Given the description of an element on the screen output the (x, y) to click on. 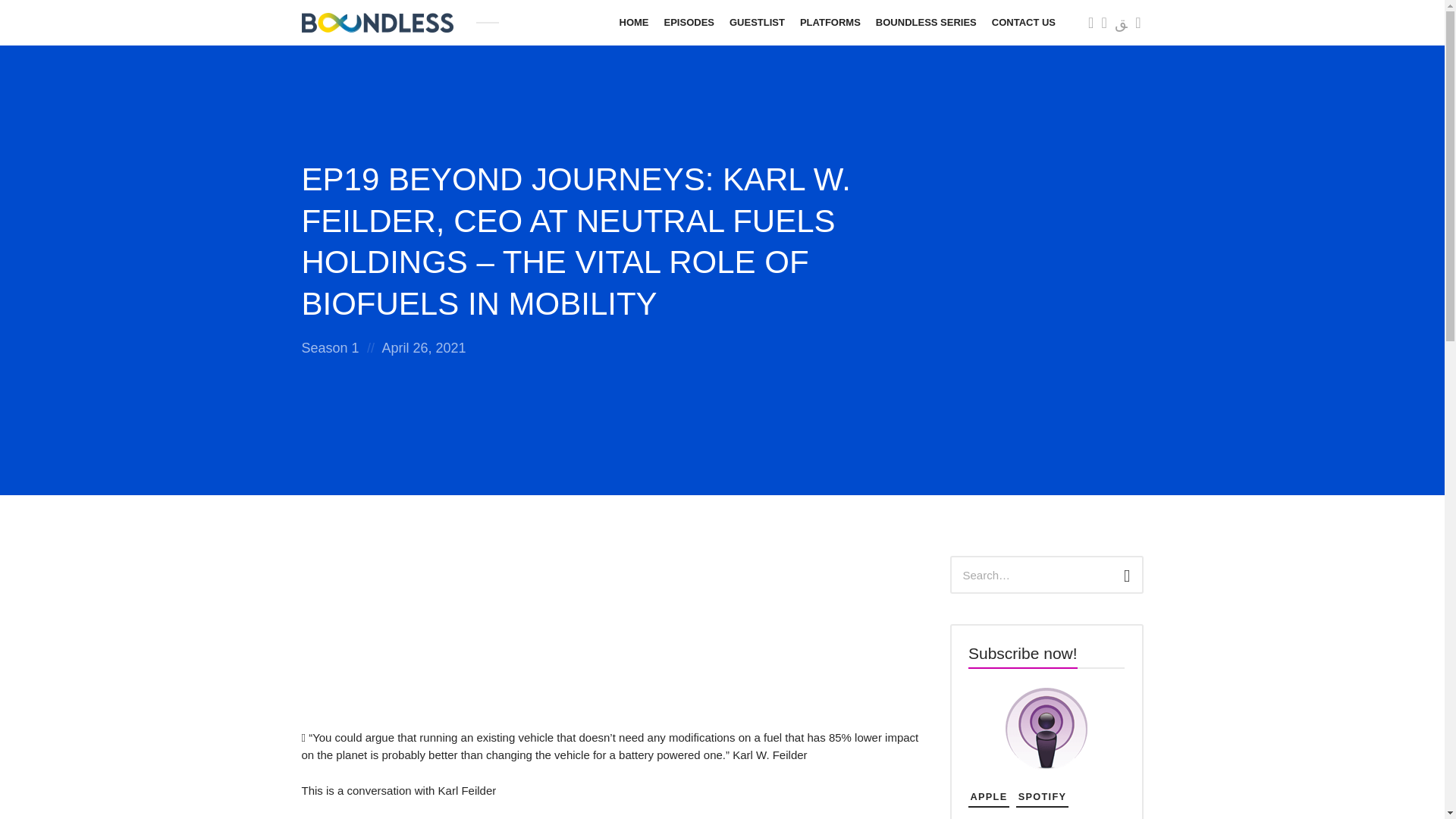
EPISODES (689, 22)
HOME (633, 22)
GOOGLE (994, 816)
SPOTIFY (1042, 797)
April 26, 2021 (423, 347)
APPLE (988, 797)
CONTACT US (1023, 22)
BOUNDLESS SERIES (925, 22)
GUESTLIST (757, 22)
Season 1 (330, 347)
